Given the description of an element on the screen output the (x, y) to click on. 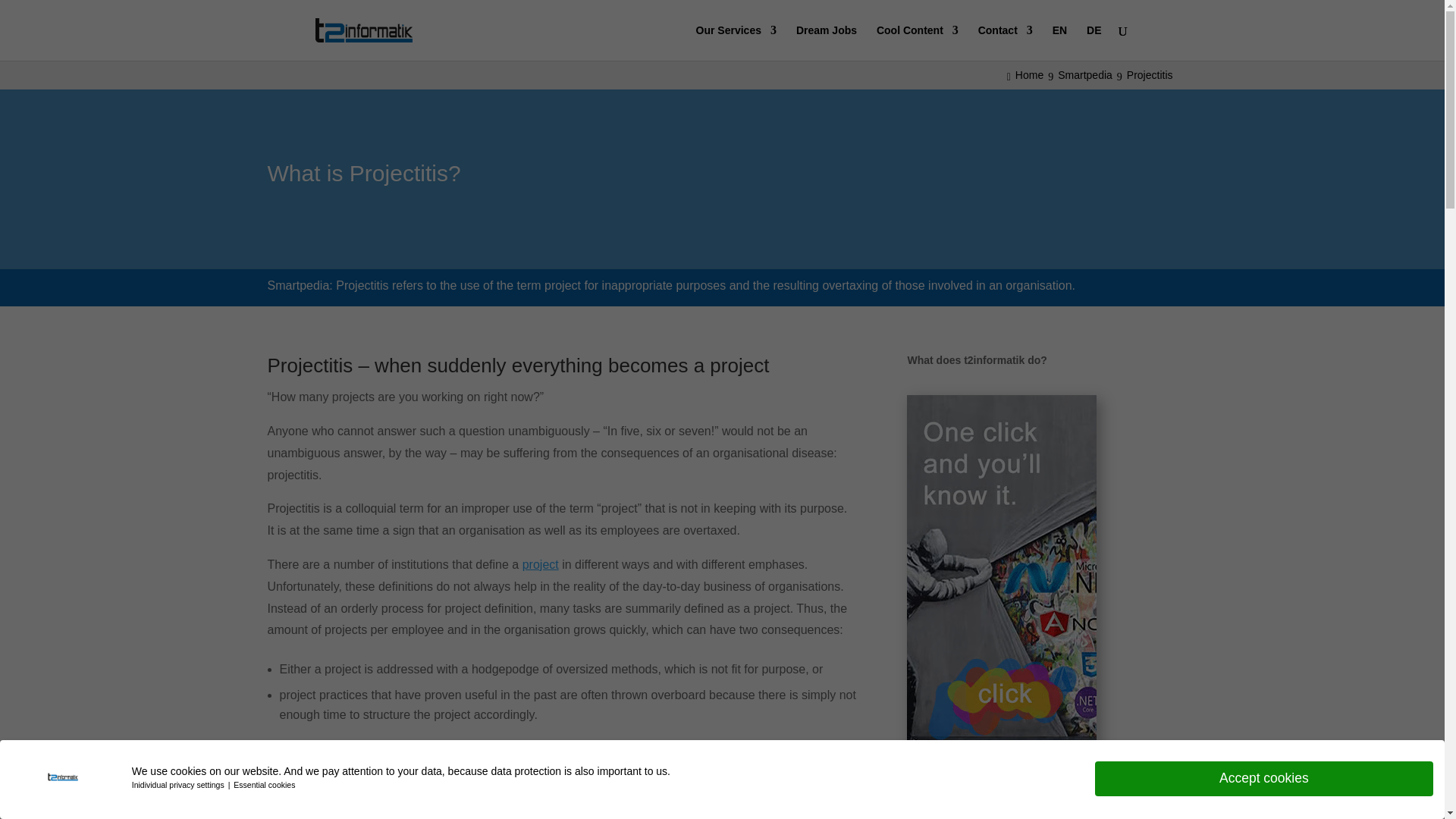
Dream Jobs (826, 42)
Our Services (735, 42)
Cool Content (917, 42)
Smartpedia (1087, 74)
Home (1027, 74)
Contact (1005, 42)
project (540, 563)
